Given the description of an element on the screen output the (x, y) to click on. 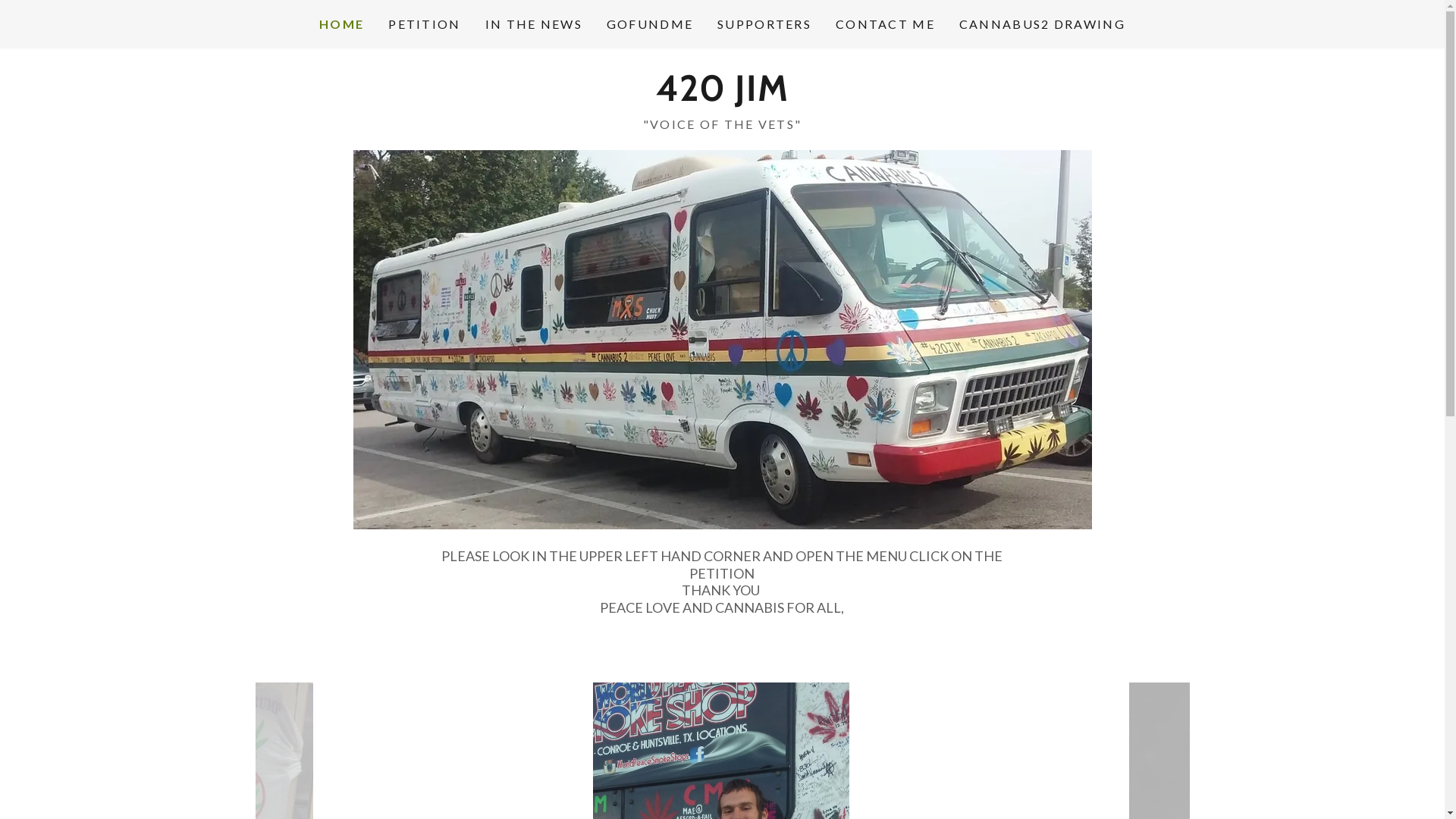
PETITION Element type: text (423, 23)
420 JIM Element type: text (721, 95)
HOME Element type: text (341, 24)
CONTACT ME Element type: text (885, 23)
IN THE NEWS Element type: text (533, 23)
SUPPORTERS Element type: text (763, 23)
GOFUNDME Element type: text (649, 23)
CANNABUS2 DRAWING Element type: text (1041, 23)
